Given the description of an element on the screen output the (x, y) to click on. 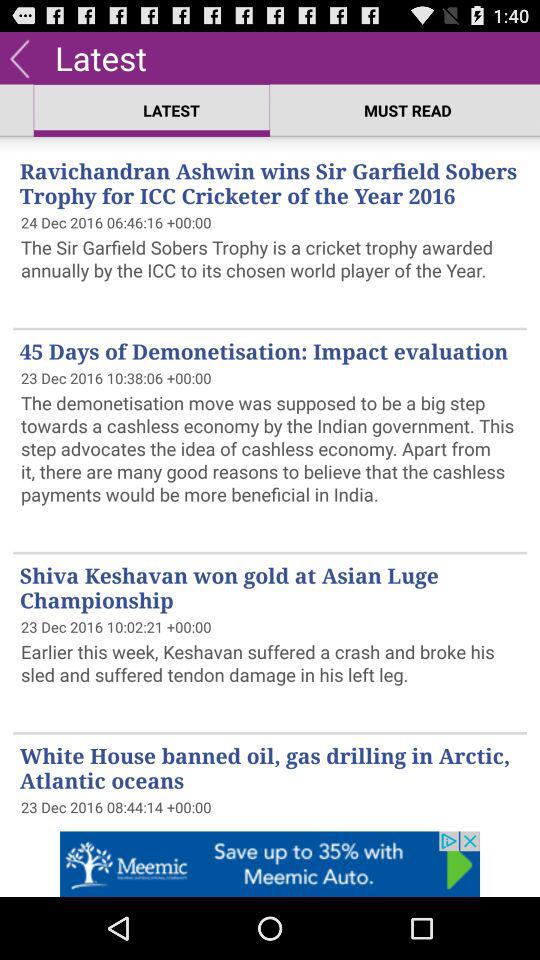
go to previous page (19, 57)
